Given the description of an element on the screen output the (x, y) to click on. 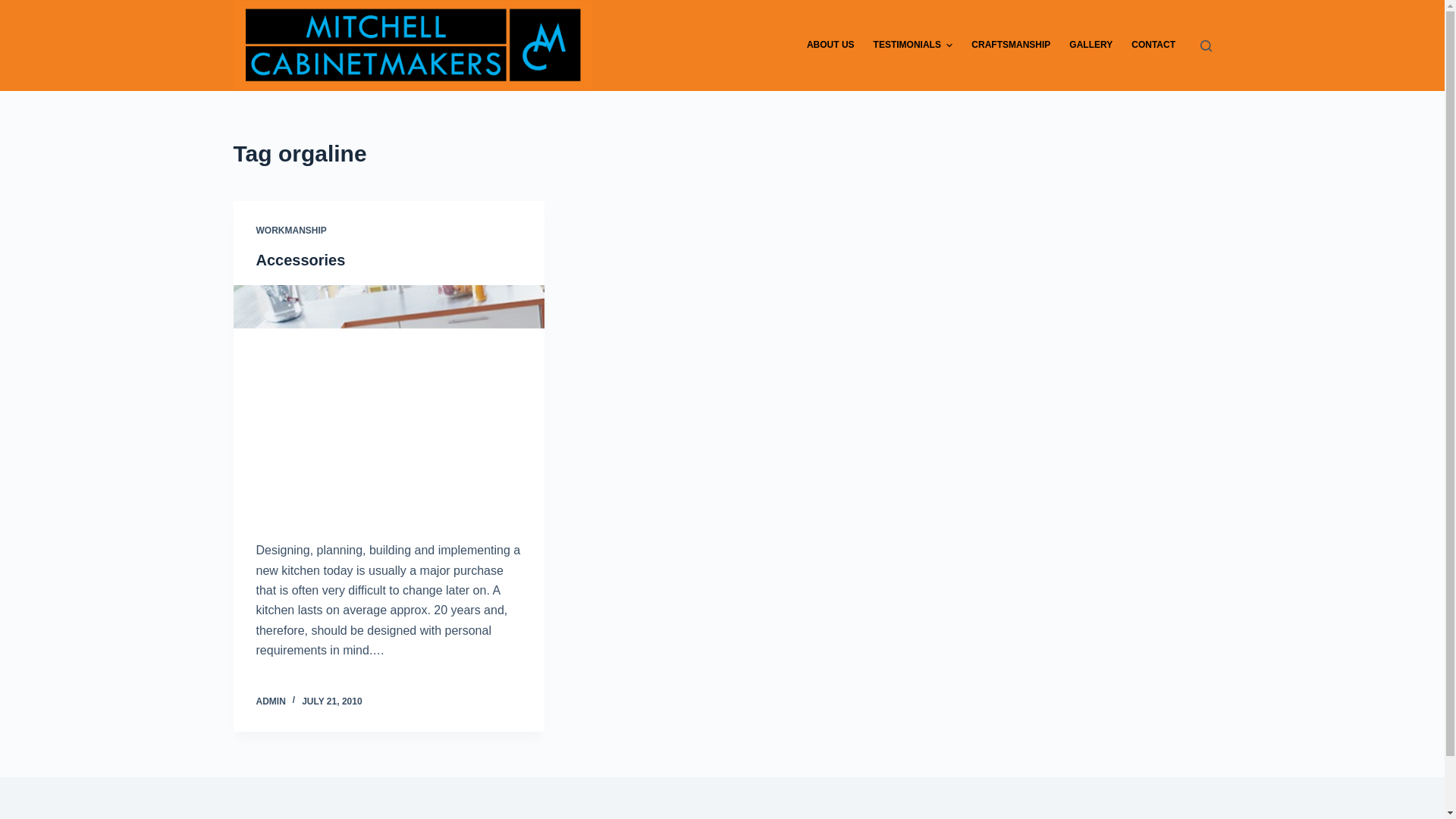
CONTACT Element type: text (1153, 45)
Skip to content Element type: text (15, 7)
ADMIN Element type: text (270, 701)
TESTIMONIALS Element type: text (912, 45)
WORKMANSHIP Element type: text (291, 230)
Accessories Element type: text (300, 259)
CRAFTSMANSHIP Element type: text (1011, 45)
ABOUT US Element type: text (830, 45)
GALLERY Element type: text (1091, 45)
